Given the description of an element on the screen output the (x, y) to click on. 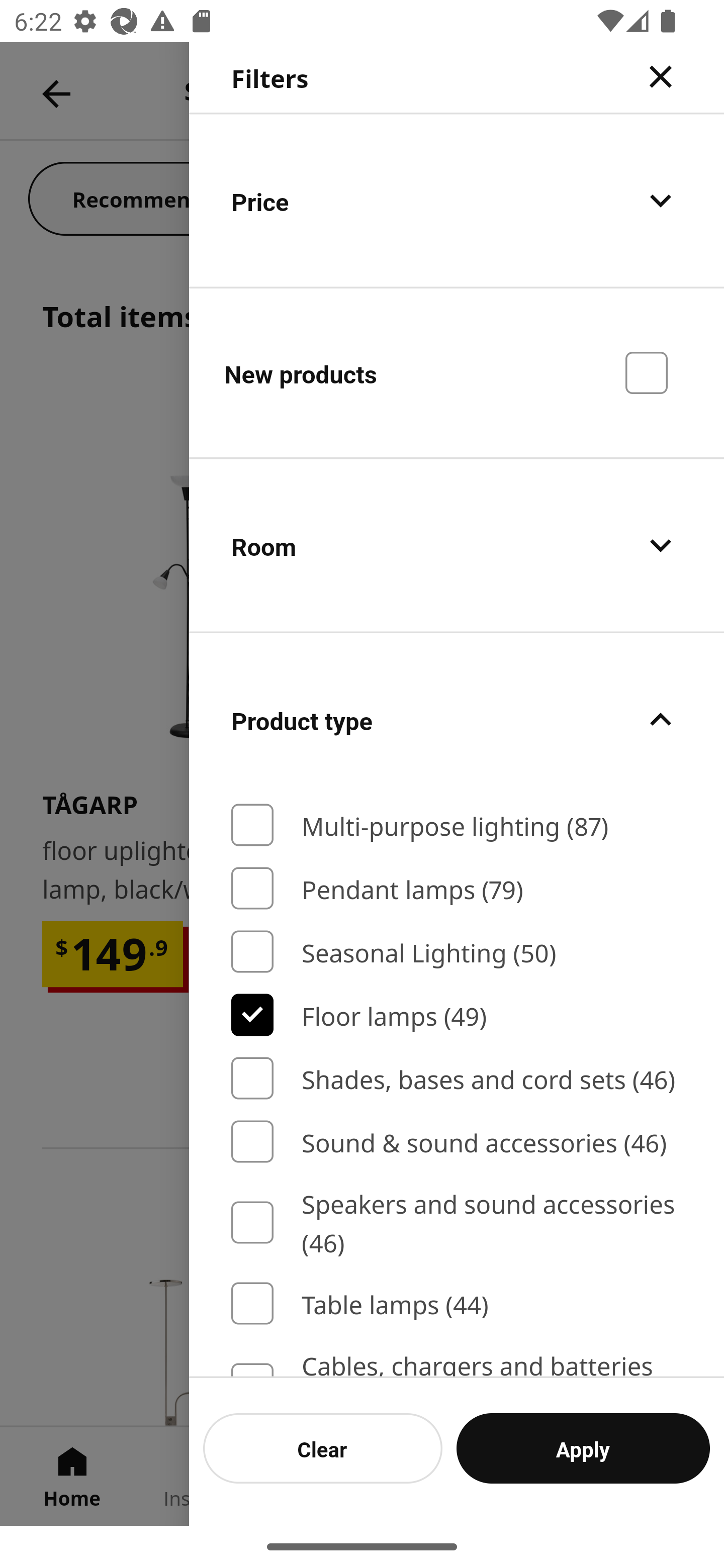
Price (456, 200)
New products (456, 371)
Room (456, 545)
Product type (456, 719)
Multi-purpose lighting (87) (456, 825)
Pendant lamps (79) (456, 888)
Seasonal Lighting (50) (456, 952)
Floor lamps (49) (456, 1015)
Shades, bases and cord sets (46) (456, 1077)
Sound & sound accessories (46) (456, 1142)
Speakers and sound accessories (46) (456, 1221)
Table lamps (44) (456, 1303)
Cables, chargers and batteries (35) (456, 1360)
Clear (322, 1447)
Apply (583, 1447)
